Given the description of an element on the screen output the (x, y) to click on. 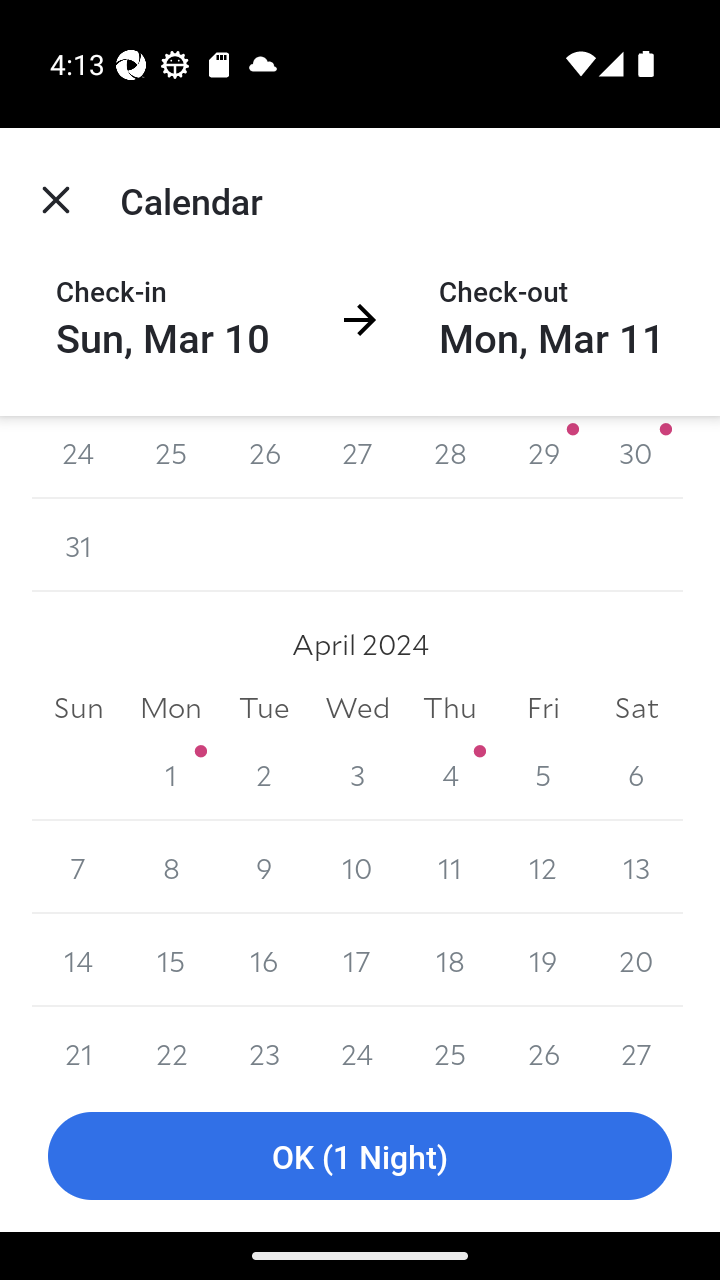
24 24 March 2024 (78, 457)
25 25 March 2024 (171, 457)
26 26 March 2024 (264, 457)
27 27 March 2024 (357, 457)
28 28 March 2024 (449, 457)
29 29 March 2024 (542, 457)
30 30 March 2024 (636, 457)
31 31 March 2024 (78, 545)
Sun (78, 707)
Mon (171, 707)
Tue (264, 707)
Wed (357, 707)
Thu (449, 707)
Fri (542, 707)
Sat (636, 707)
1 1 April 2024 (171, 774)
2 2 April 2024 (264, 774)
3 3 April 2024 (357, 774)
4 4 April 2024 (449, 774)
5 5 April 2024 (542, 774)
6 6 April 2024 (636, 774)
7 7 April 2024 (78, 866)
8 8 April 2024 (171, 866)
9 9 April 2024 (264, 866)
10 10 April 2024 (357, 866)
11 11 April 2024 (449, 866)
12 12 April 2024 (542, 866)
13 13 April 2024 (636, 866)
14 14 April 2024 (78, 960)
15 15 April 2024 (171, 960)
16 16 April 2024 (264, 960)
17 17 April 2024 (357, 960)
18 18 April 2024 (449, 960)
19 19 April 2024 (542, 960)
20 20 April 2024 (636, 960)
21 21 April 2024 (78, 1043)
22 22 April 2024 (171, 1043)
23 23 April 2024 (264, 1043)
24 24 April 2024 (357, 1043)
25 25 April 2024 (449, 1043)
26 26 April 2024 (542, 1043)
27 27 April 2024 (636, 1043)
OK (1 Night) (359, 1156)
